Given the description of an element on the screen output the (x, y) to click on. 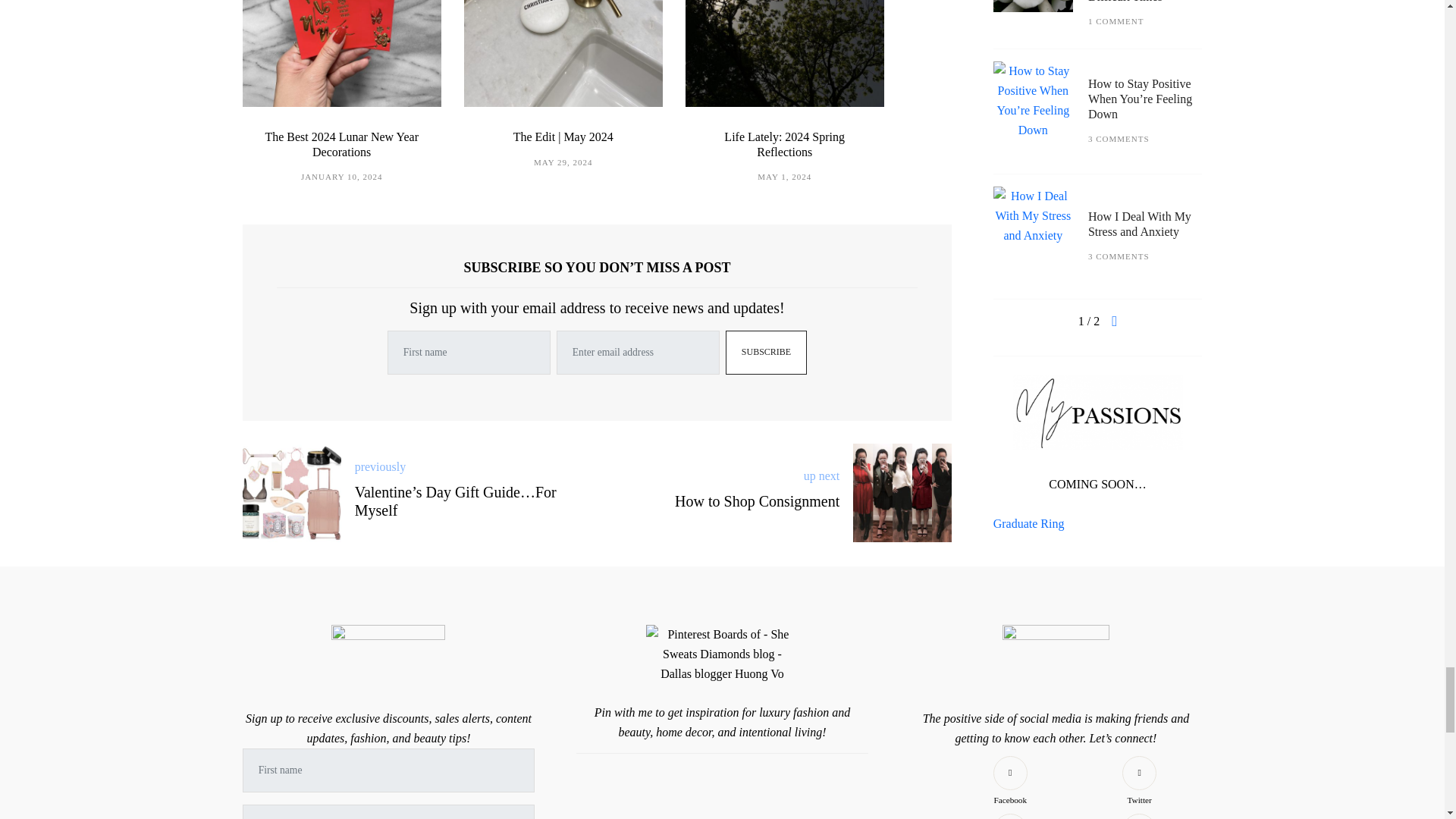
Subscribe (765, 352)
